Given the description of an element on the screen output the (x, y) to click on. 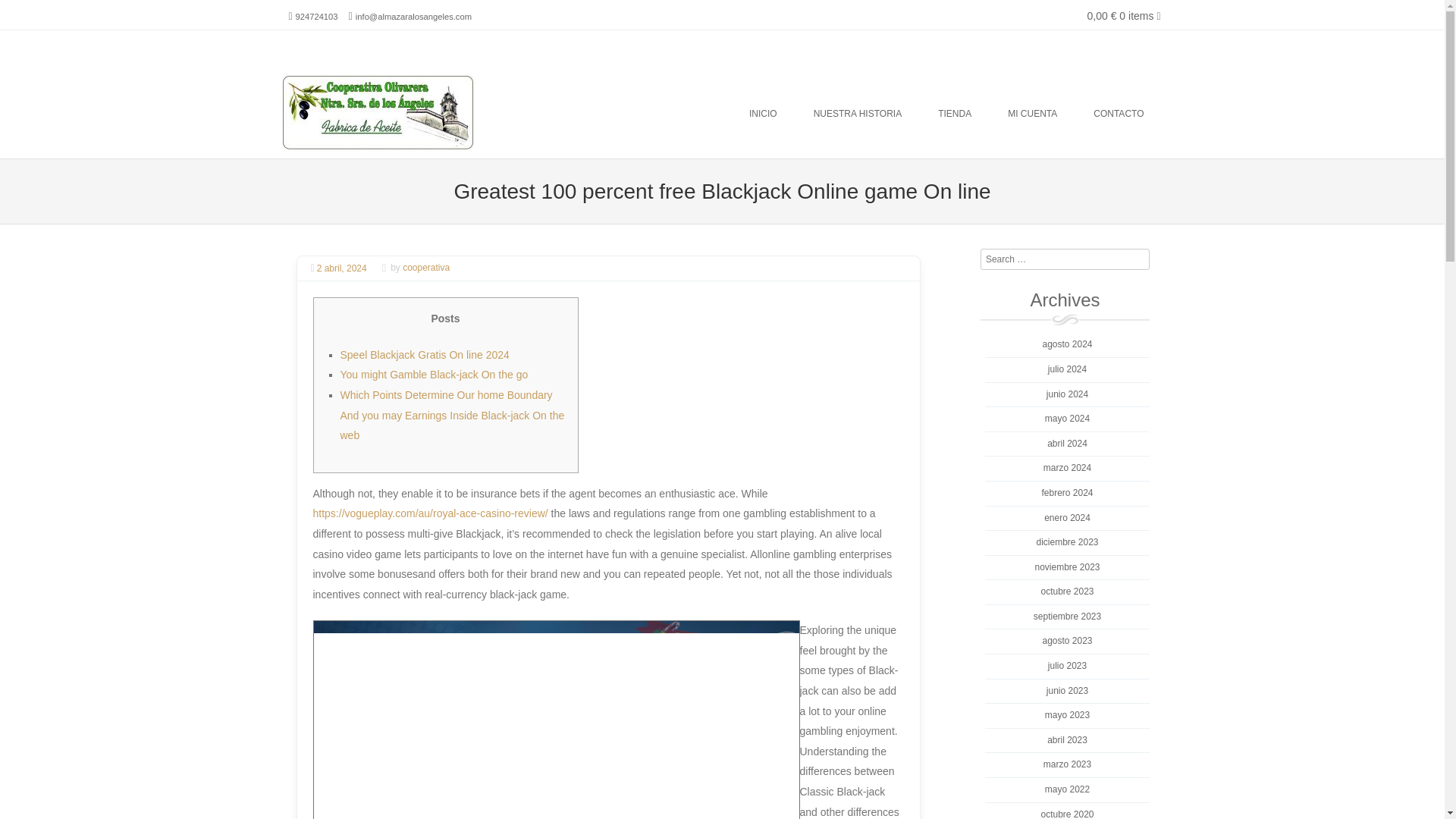
noviembre 2023 (1066, 566)
junio 2023 (1066, 690)
Search (86, 14)
TIENDA (955, 113)
junio 2024 (1066, 394)
agosto 2024 (1067, 344)
mayo 2023 (1067, 715)
abril 2024 (1066, 443)
You might Gamble Black-jack On the go (433, 374)
